Given the description of an element on the screen output the (x, y) to click on. 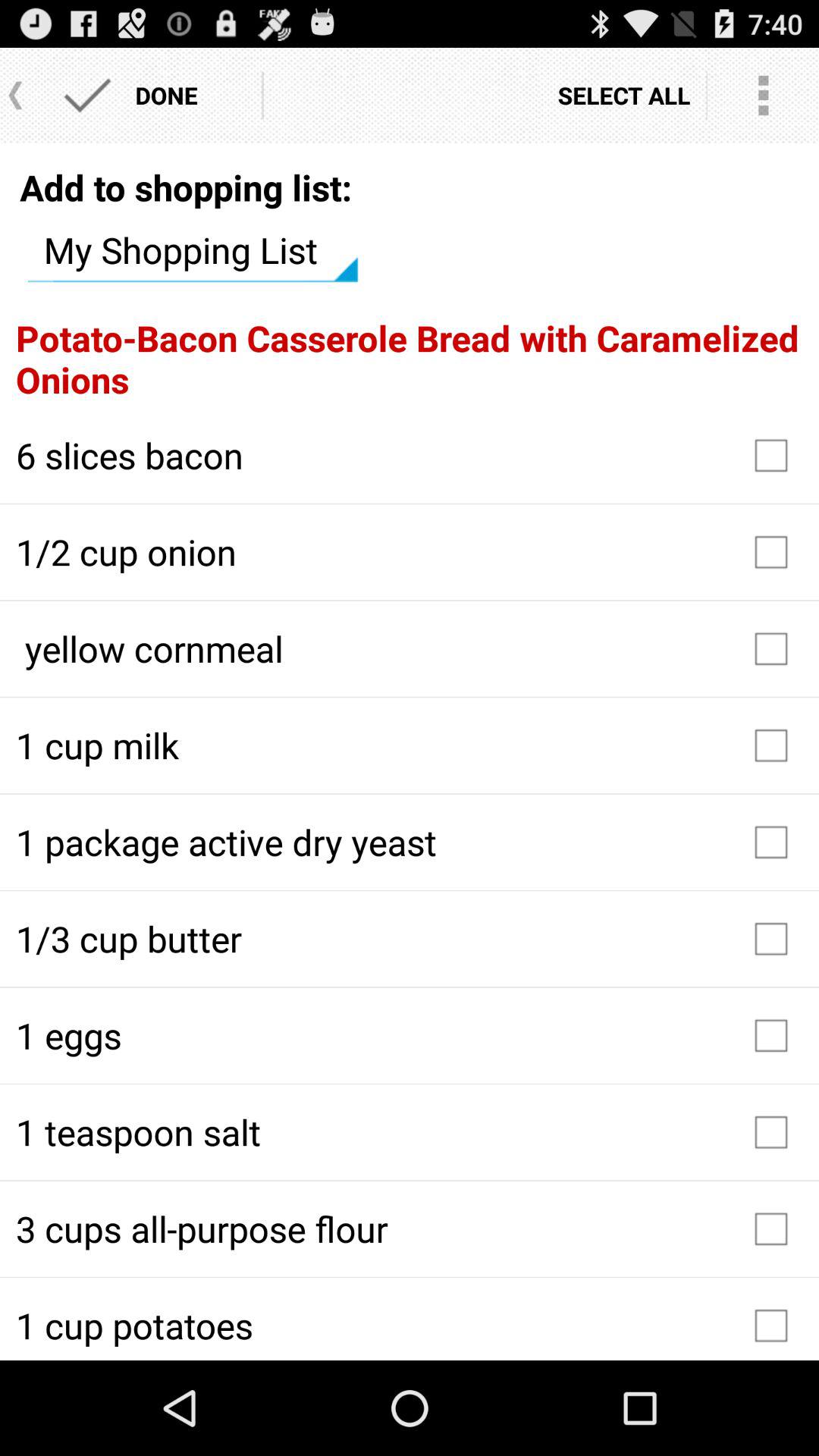
press the icon below 1 2 cup icon (409, 648)
